Given the description of an element on the screen output the (x, y) to click on. 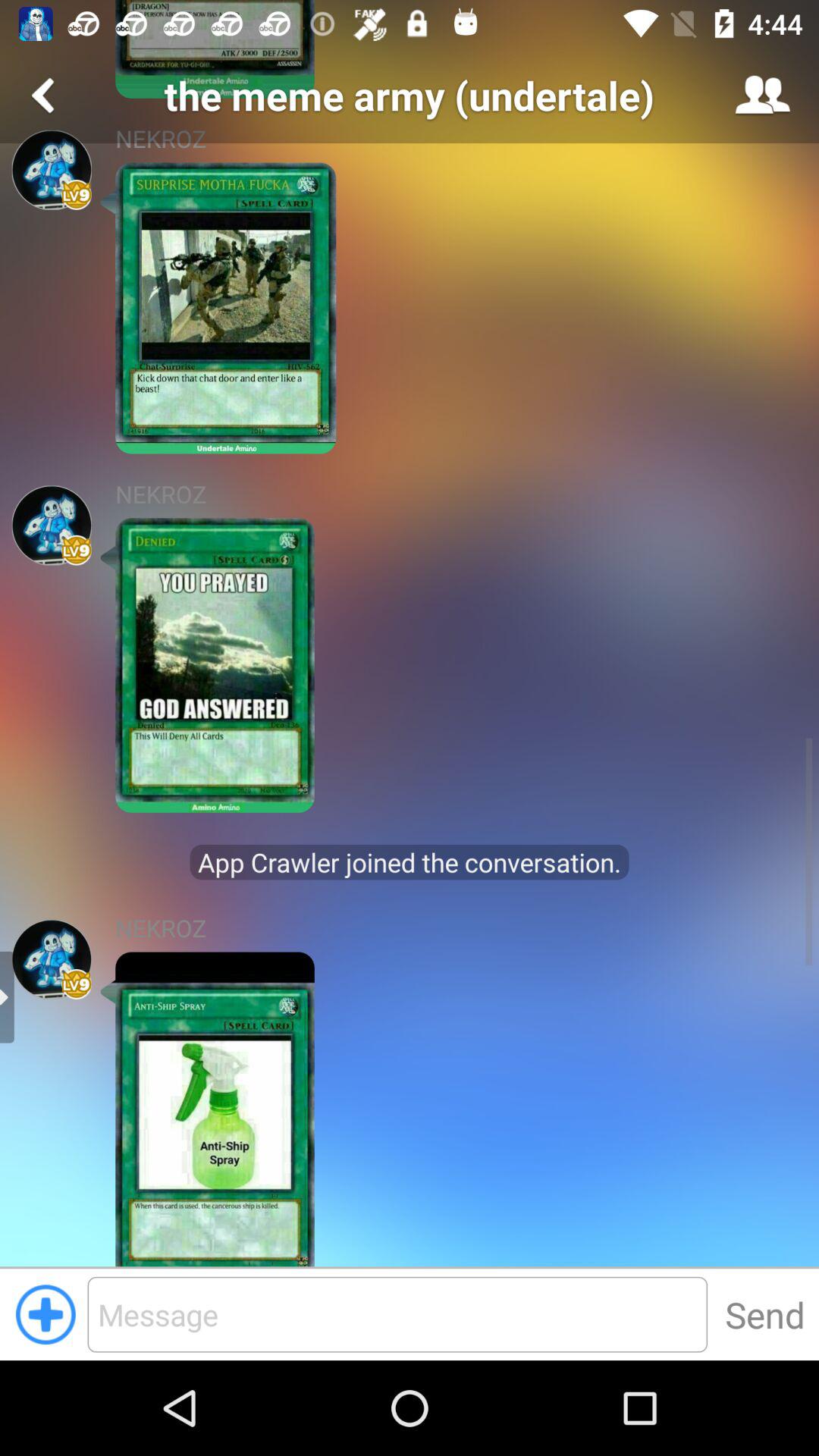
message page (397, 1314)
